Given the description of an element on the screen output the (x, y) to click on. 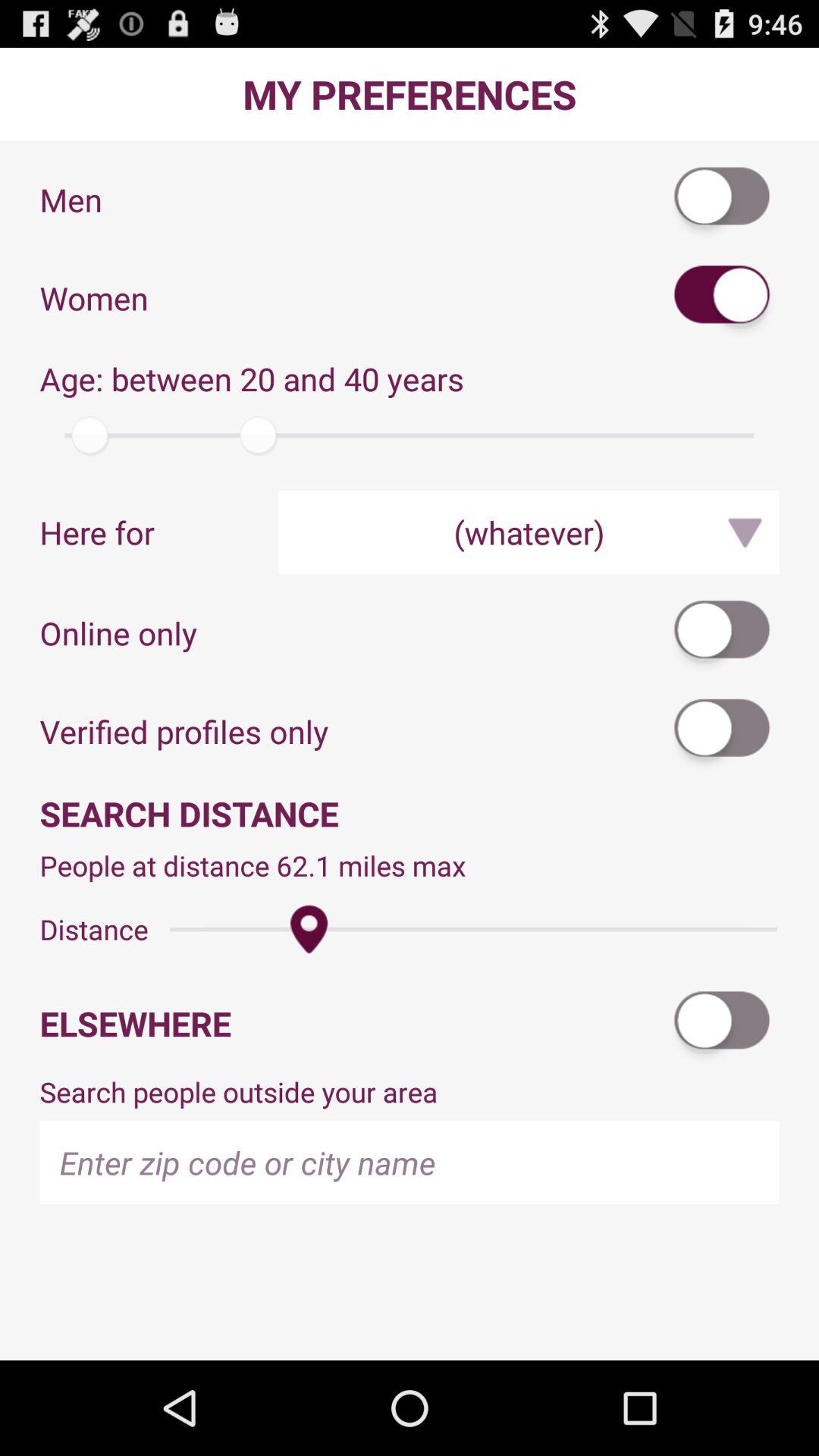
hit the men icon (722, 199)
